Given the description of an element on the screen output the (x, y) to click on. 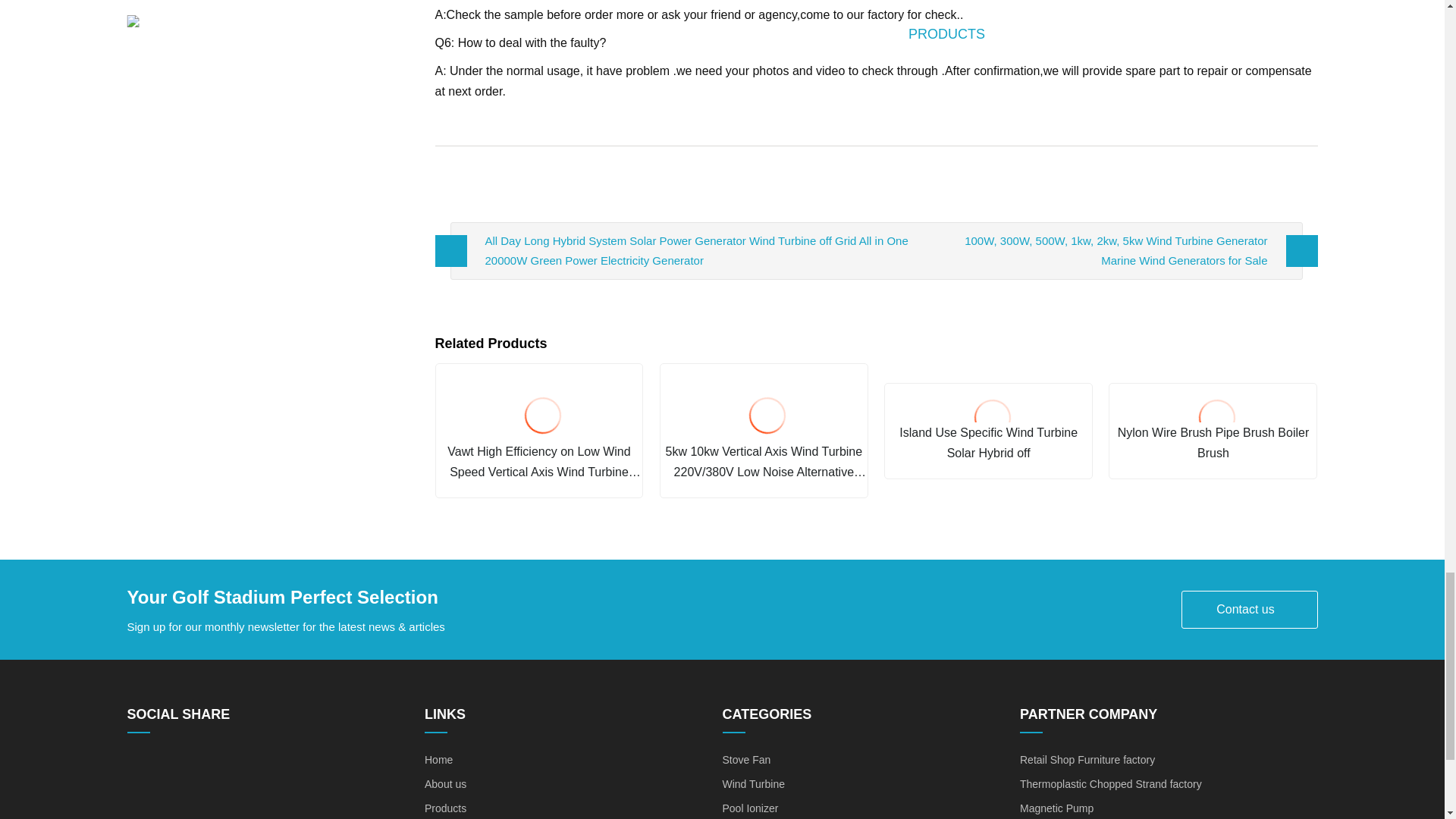
TikTok (290, 765)
youtube (229, 765)
linkedin (168, 765)
facebook (138, 765)
twitter (199, 765)
instagram (259, 765)
